Given the description of an element on the screen output the (x, y) to click on. 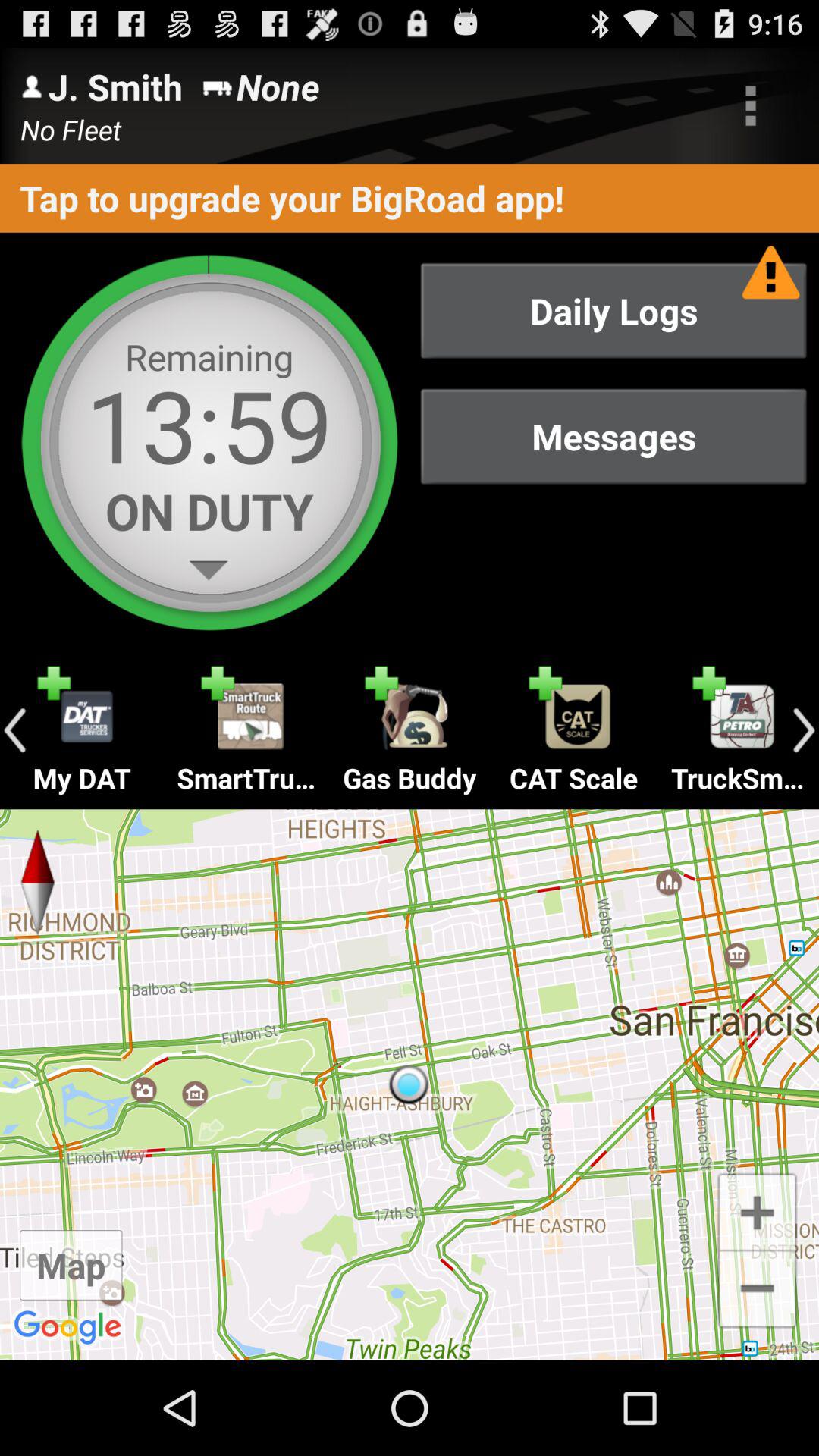
choose the item above tap to upgrade item (750, 105)
